Given the description of an element on the screen output the (x, y) to click on. 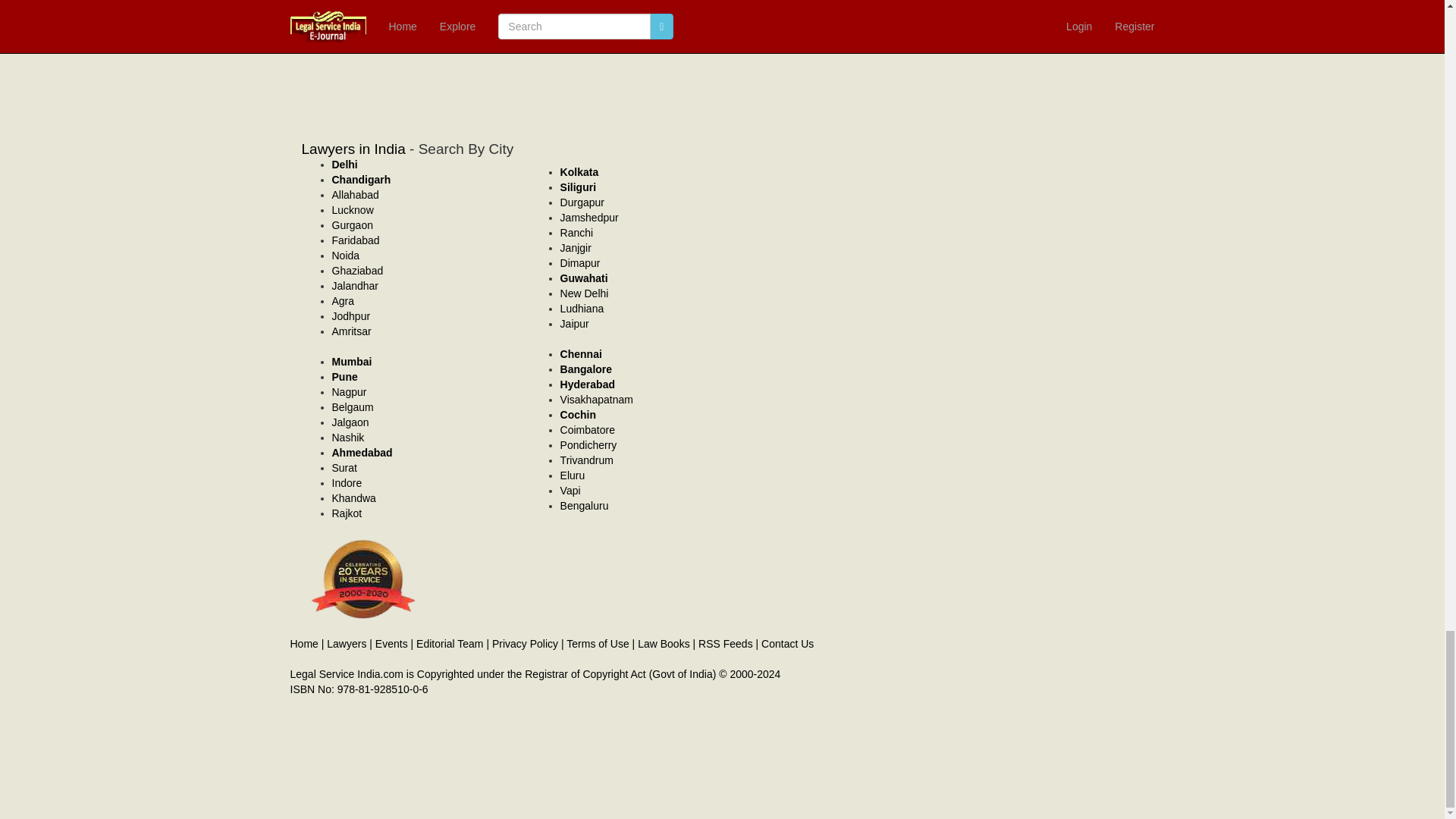
Agra (343, 300)
Mumbai (351, 361)
Pune (344, 377)
Jalandhar (354, 285)
lawyers in Pune (344, 377)
lawyers in Agra (343, 300)
Delhi (344, 164)
Allahabad (354, 194)
fw-iframe (586, 53)
Lawyers in Allahabad (354, 194)
